Given the description of an element on the screen output the (x, y) to click on. 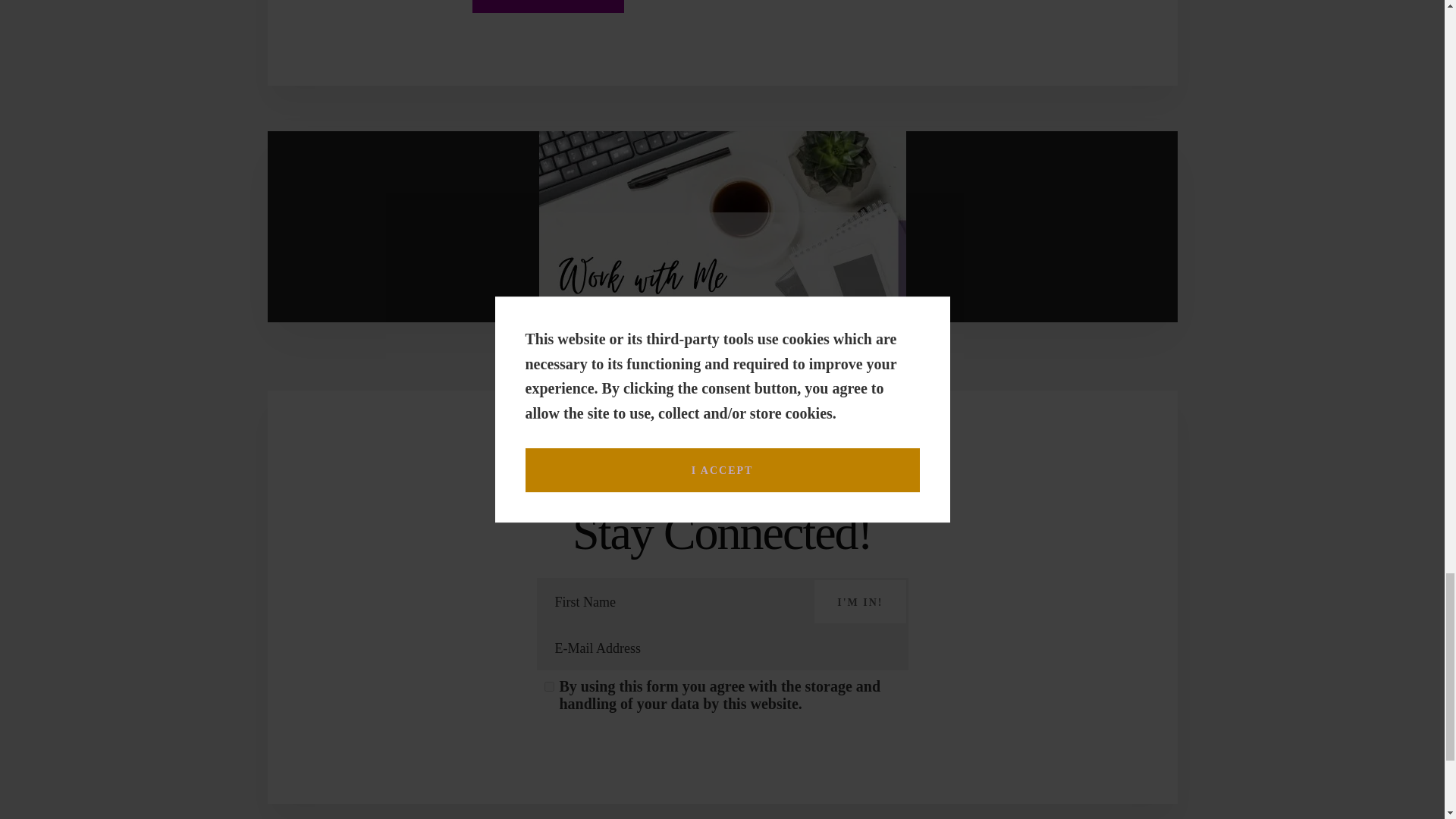
Post Comment (547, 6)
I'M IN! (859, 601)
checked (549, 686)
Post Comment (547, 6)
